Given the description of an element on the screen output the (x, y) to click on. 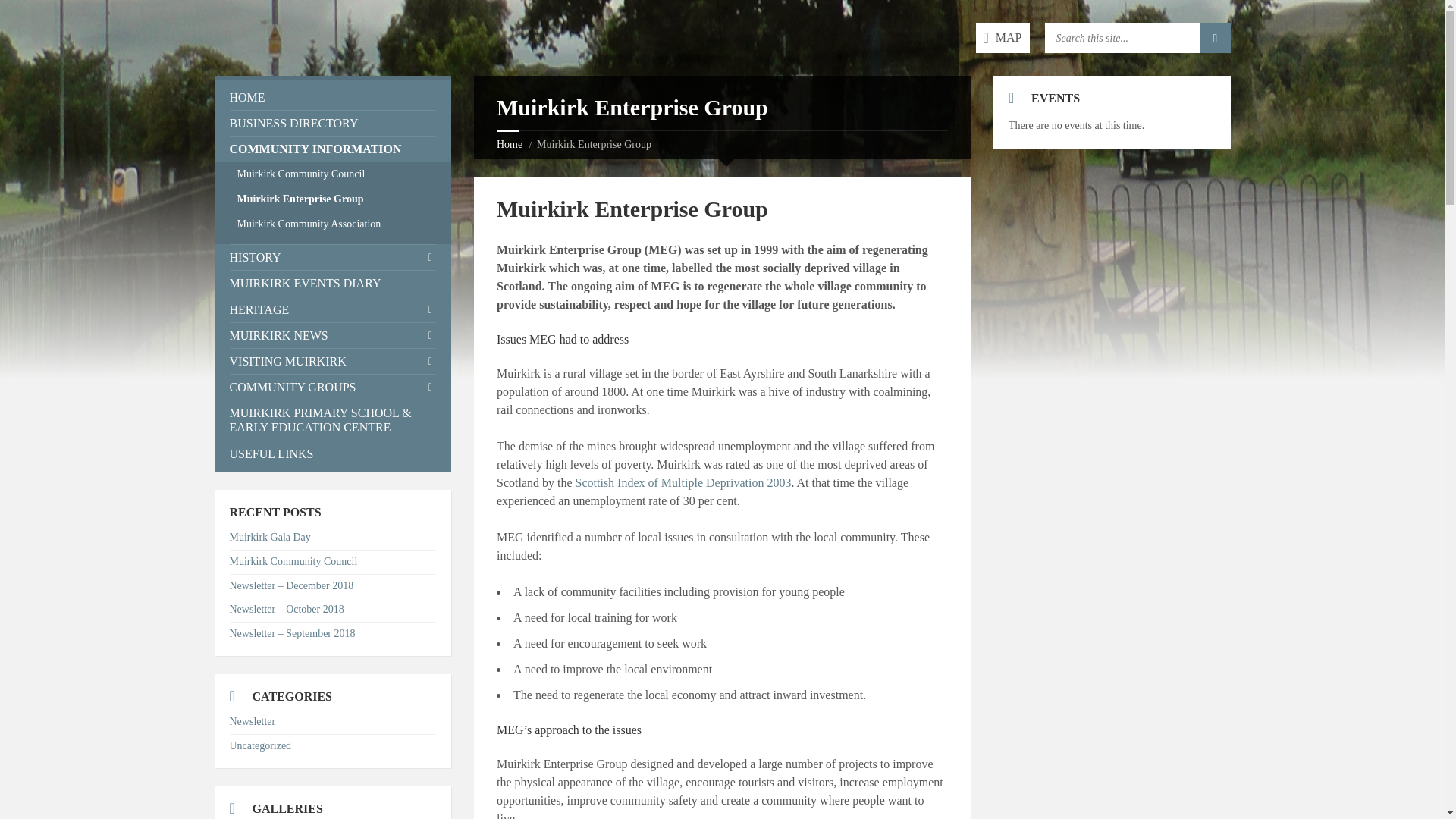
Scottish Index of Multiple Deprivation 2003 (683, 481)
Show on Map (1002, 37)
Home (509, 143)
MAP (1002, 37)
